Given the description of an element on the screen output the (x, y) to click on. 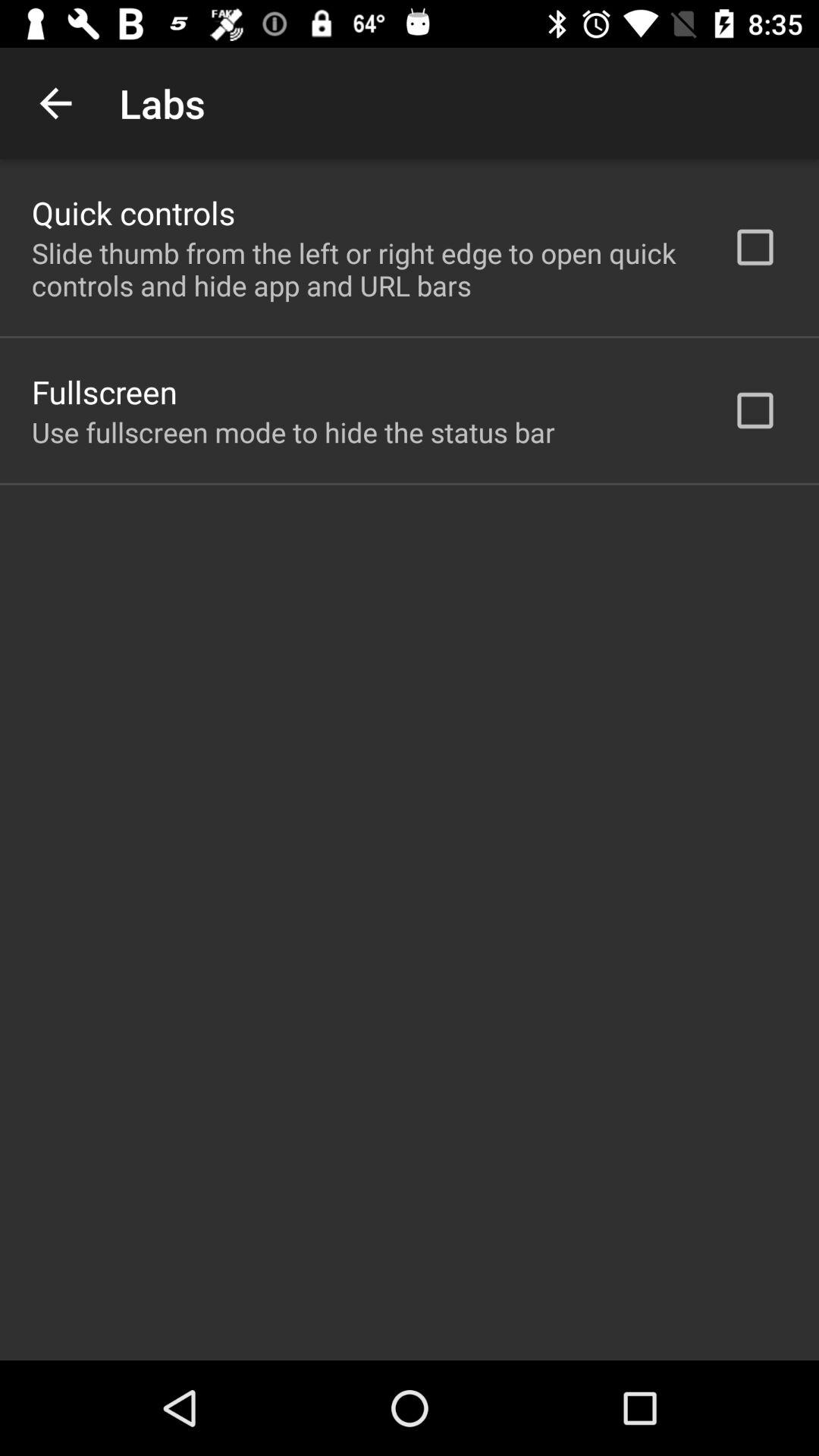
flip to use fullscreen mode app (293, 432)
